Given the description of an element on the screen output the (x, y) to click on. 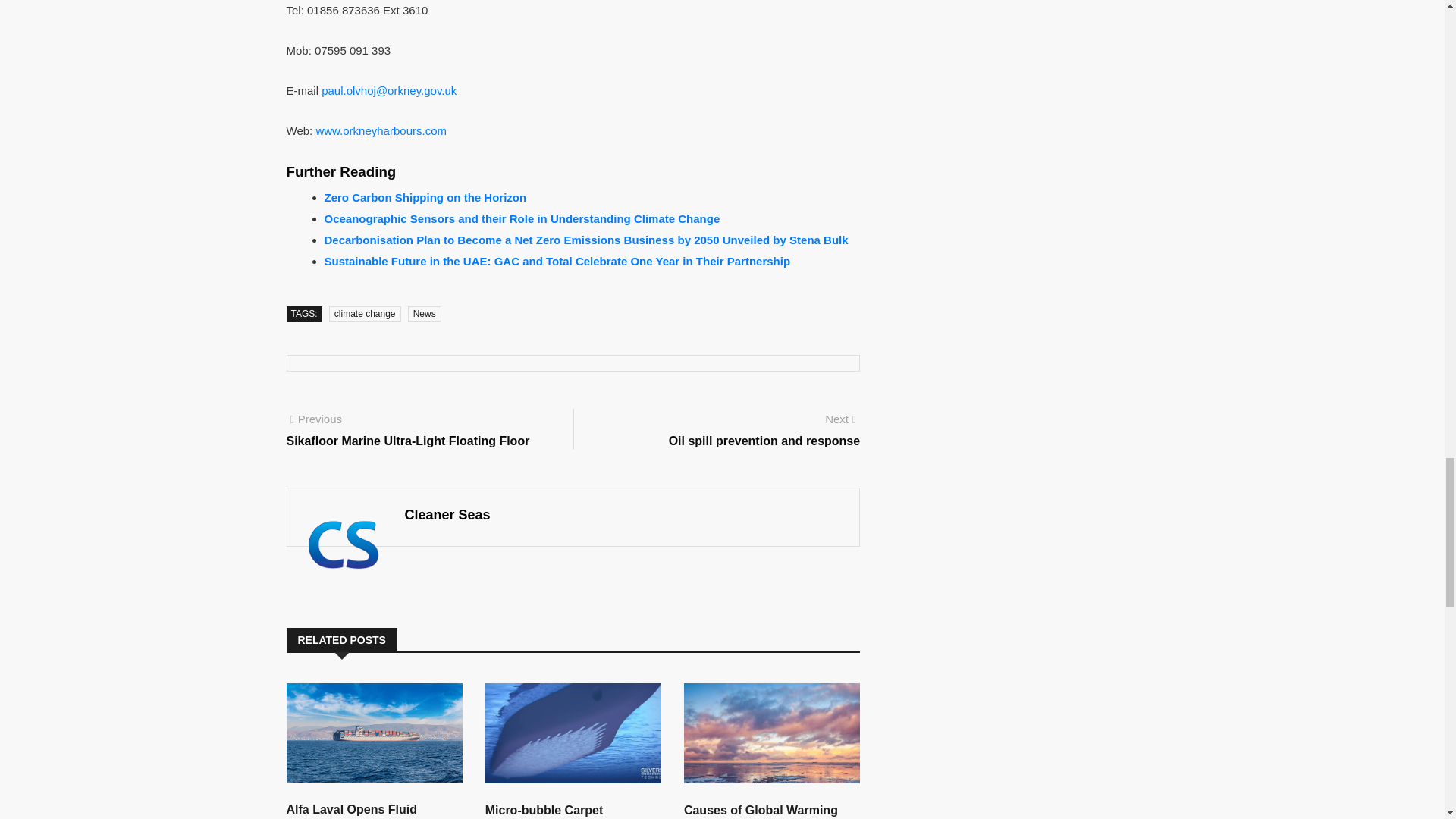
Zero Carbon Shipping on the Horizon (425, 196)
Posts by Cleaner Seas (447, 514)
